Given the description of an element on the screen output the (x, y) to click on. 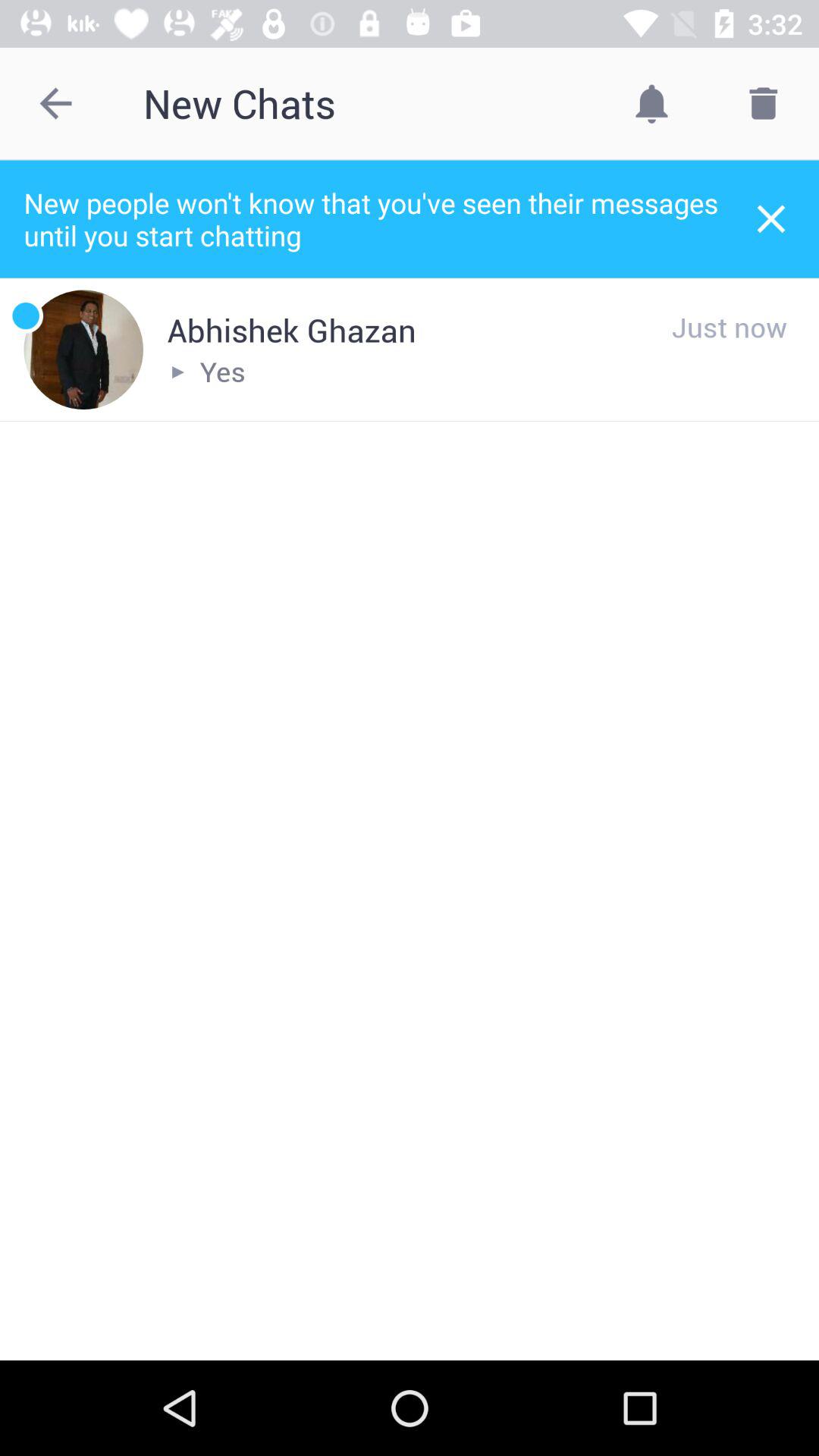
launch the item to the right of new people won (771, 218)
